Given the description of an element on the screen output the (x, y) to click on. 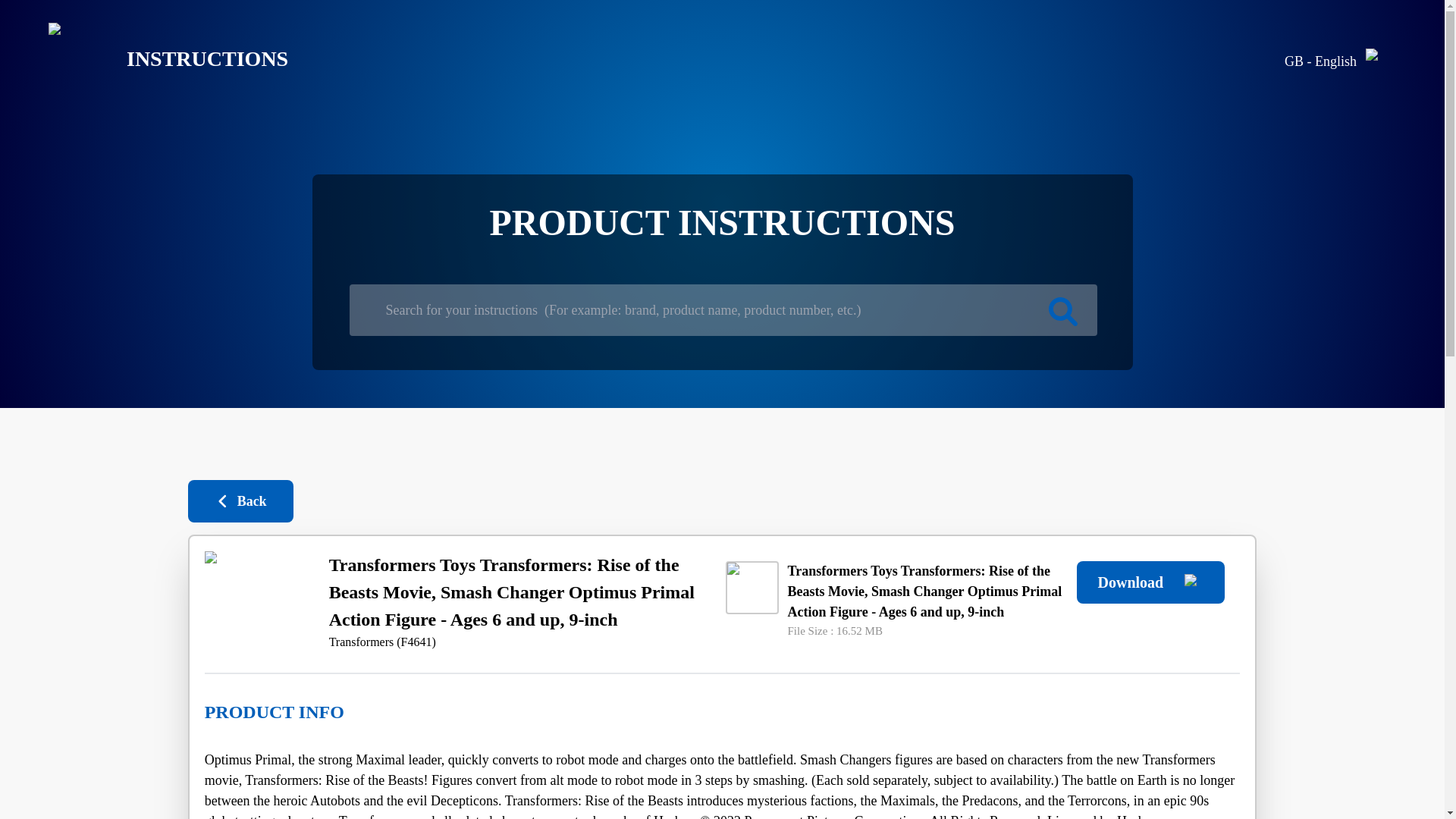
Download (1150, 582)
Back (240, 500)
INSTRUCTIONS (156, 59)
